Given the description of an element on the screen output the (x, y) to click on. 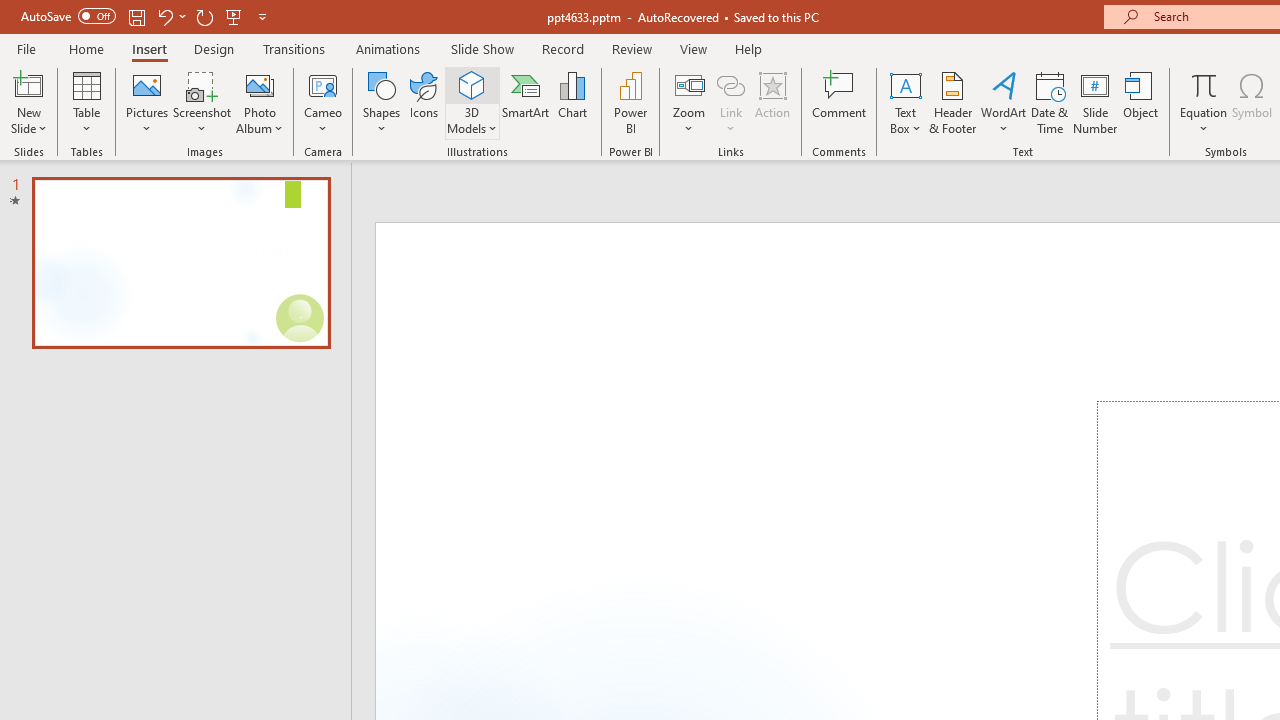
Photo Album... (259, 102)
Table (86, 102)
Draw Horizontal Text Box (905, 84)
Screenshot (202, 102)
WordArt (1004, 102)
Date & Time... (1050, 102)
